Given the description of an element on the screen output the (x, y) to click on. 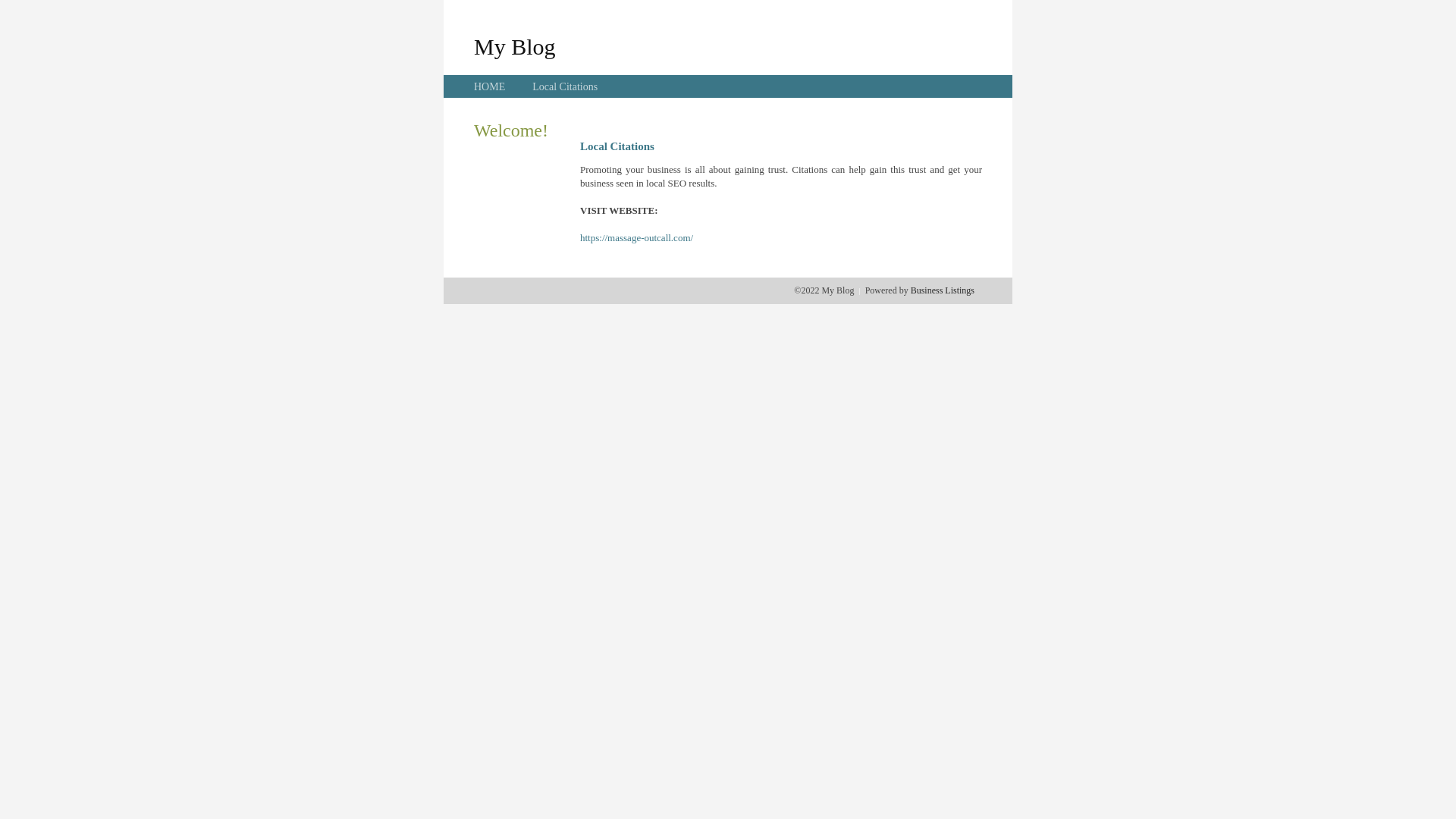
https://massage-outcall.com/ Element type: text (636, 237)
My Blog Element type: text (514, 46)
HOME Element type: text (489, 86)
Local Citations Element type: text (564, 86)
Business Listings Element type: text (942, 290)
